Given the description of an element on the screen output the (x, y) to click on. 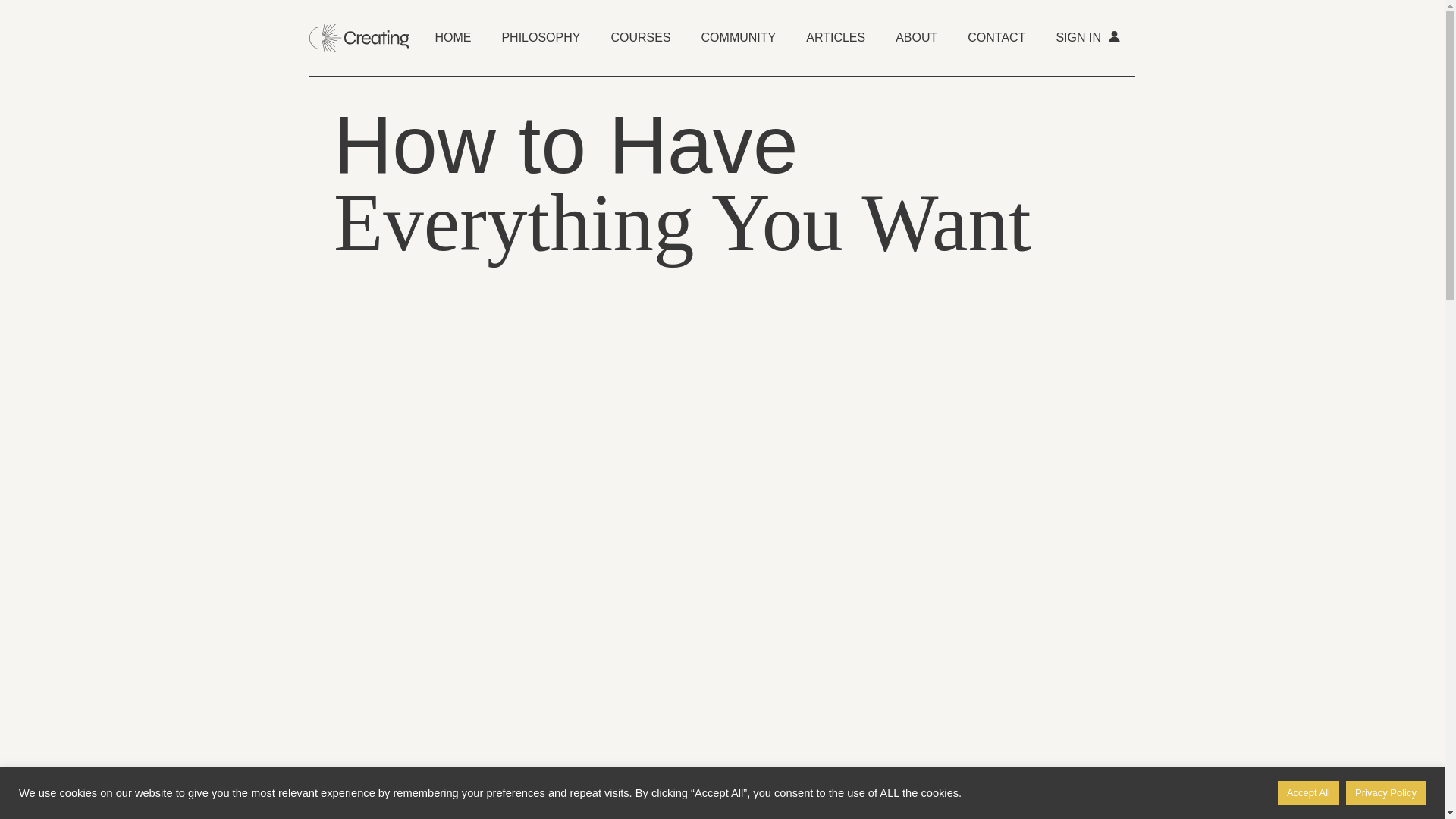
HOME (452, 37)
PHILOSOPHY (540, 37)
COURSES (640, 37)
ARTICLES (835, 37)
CONTACT (996, 37)
SIGN IN (1088, 37)
COMMUNITY (738, 37)
ABOUT (916, 37)
